Given the description of an element on the screen output the (x, y) to click on. 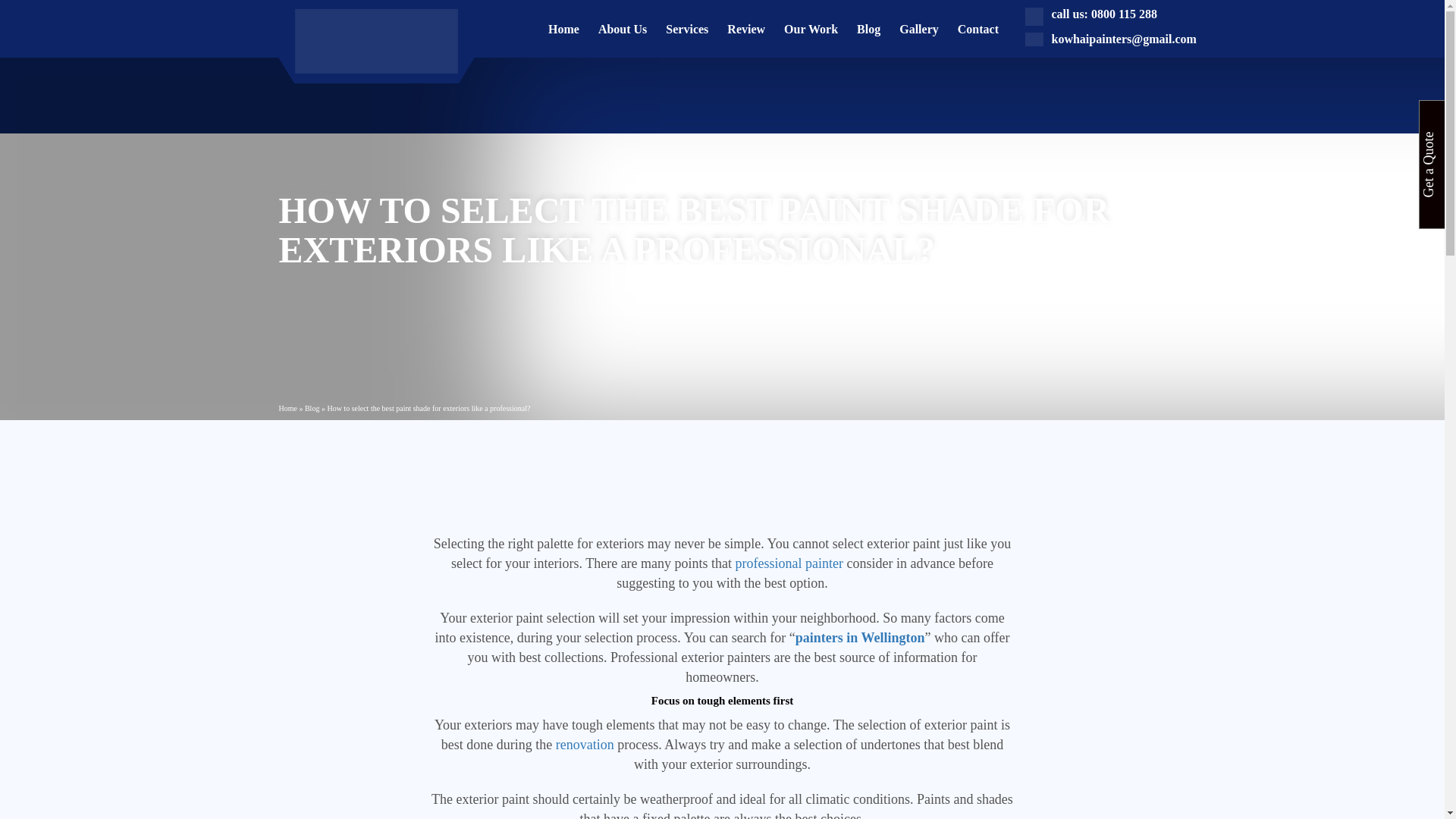
painters in Wellington (859, 637)
0800 115 288 (1123, 13)
renovation (585, 744)
Home (288, 408)
professional painter (789, 563)
Blog (311, 408)
